Given the description of an element on the screen output the (x, y) to click on. 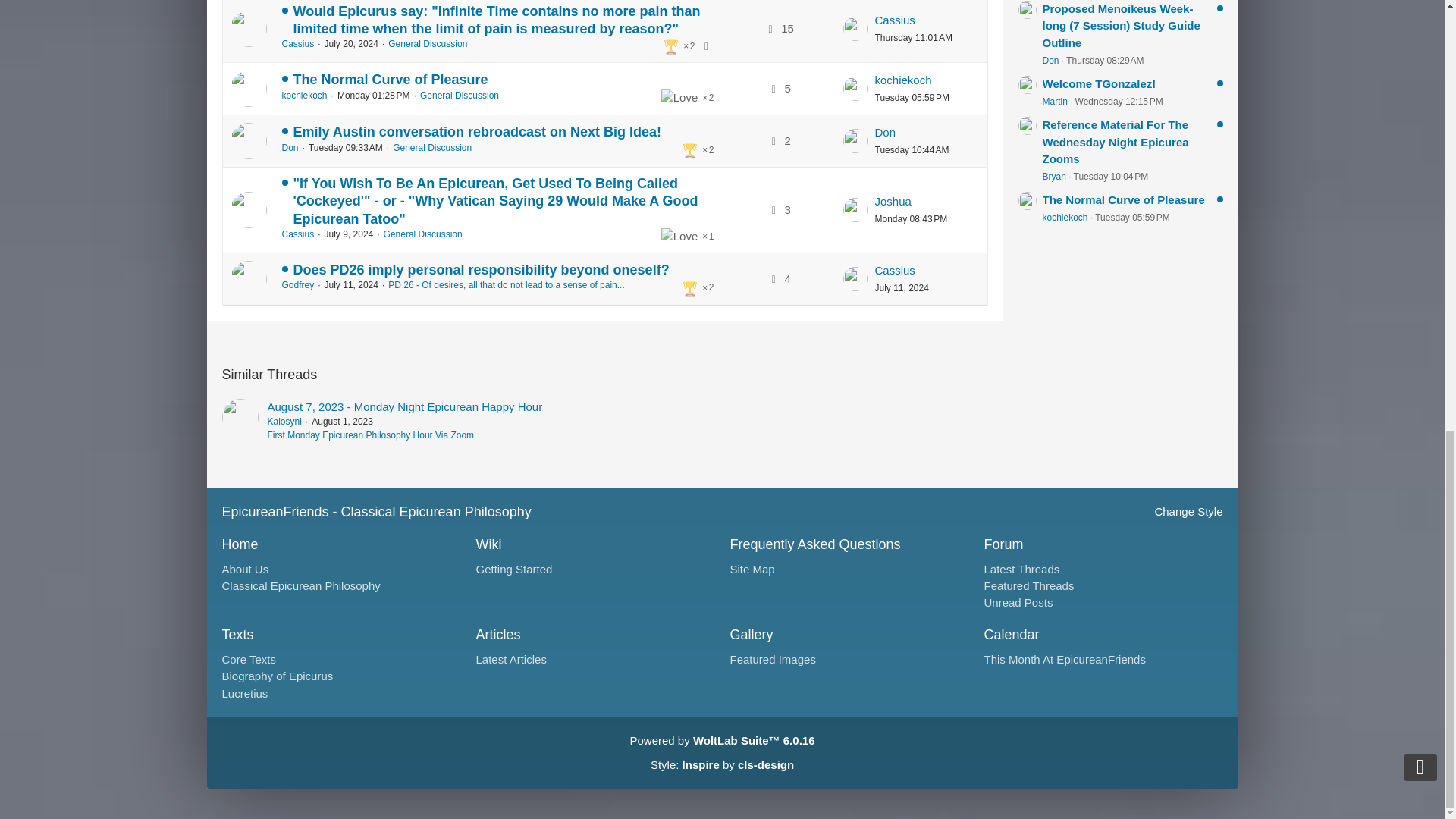
Double-Click to Mark This Thread Read (248, 28)
Double-Click to Mark This Thread Read (248, 140)
Double-Click to Mark This Thread Read (248, 209)
Double-Click to Mark This Thread Read (248, 279)
Double-Click to Mark This Thread Read (248, 88)
